Given the description of an element on the screen output the (x, y) to click on. 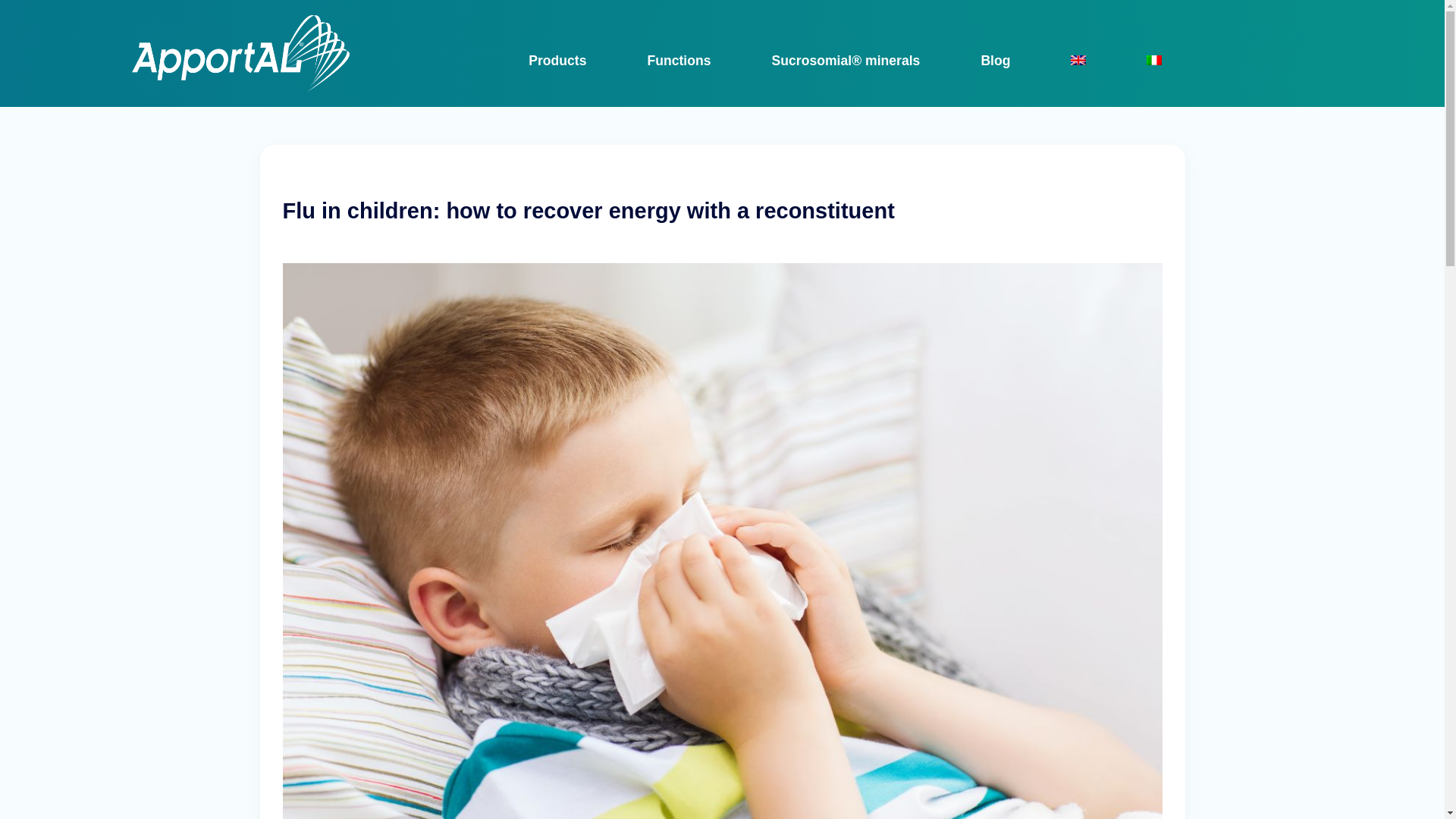
Blog (994, 60)
Apportal (160, 117)
Functions (678, 60)
Products (557, 60)
